Given the description of an element on the screen output the (x, y) to click on. 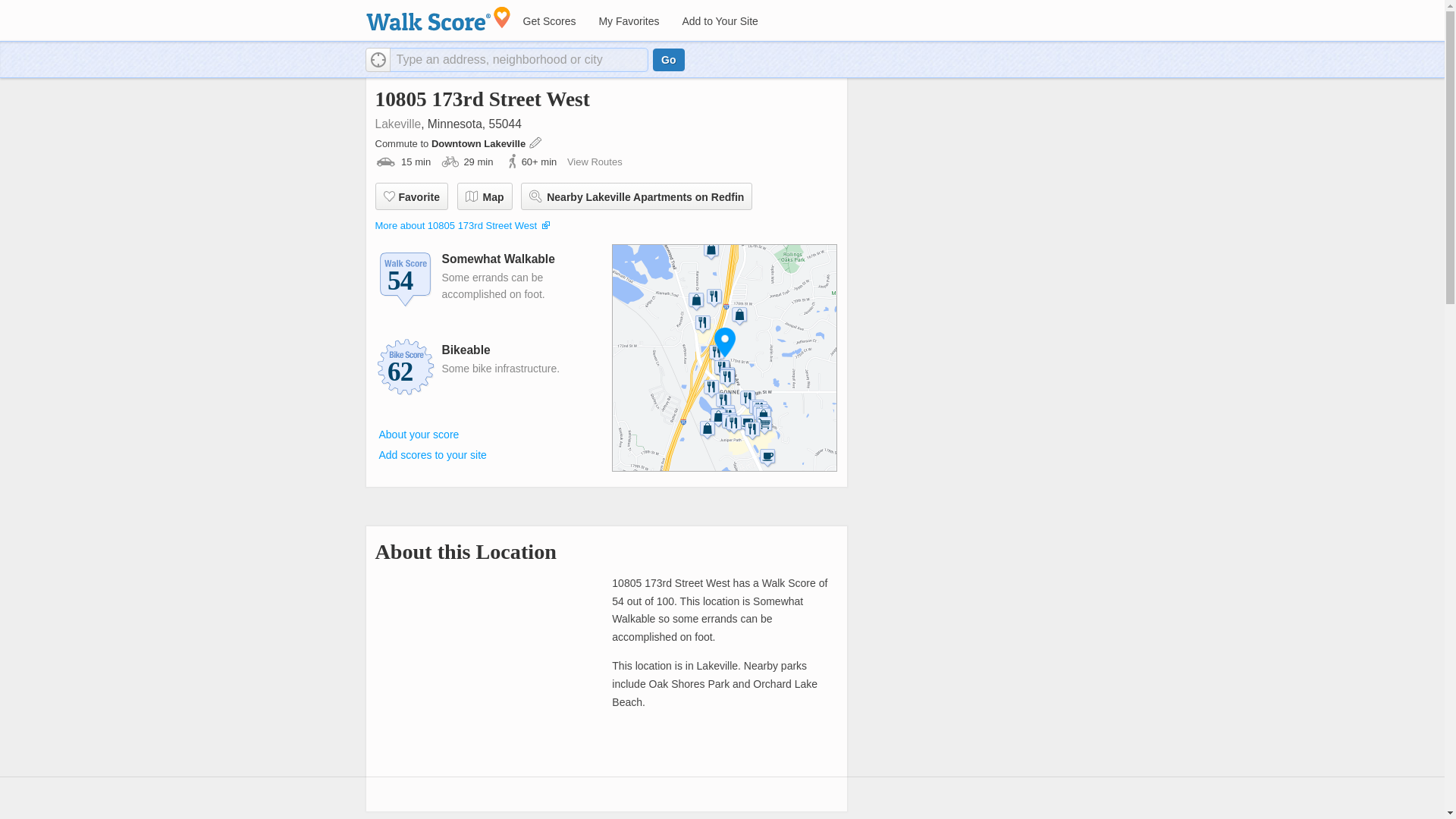
Add scores to your site (432, 454)
About your score (419, 434)
View Routes (595, 161)
More about 10805 173rd Street West (455, 225)
Lakeville (397, 123)
3rd party ad content (721, 800)
Go (668, 59)
Add to Your Site (719, 21)
3rd party ad content (975, 196)
Favorite (410, 195)
My Favorites (628, 21)
Get Scores (548, 21)
Downtown Lakeville (479, 143)
Nearby Lakeville Apartments on Redfin (636, 195)
Map (484, 195)
